Given the description of an element on the screen output the (x, y) to click on. 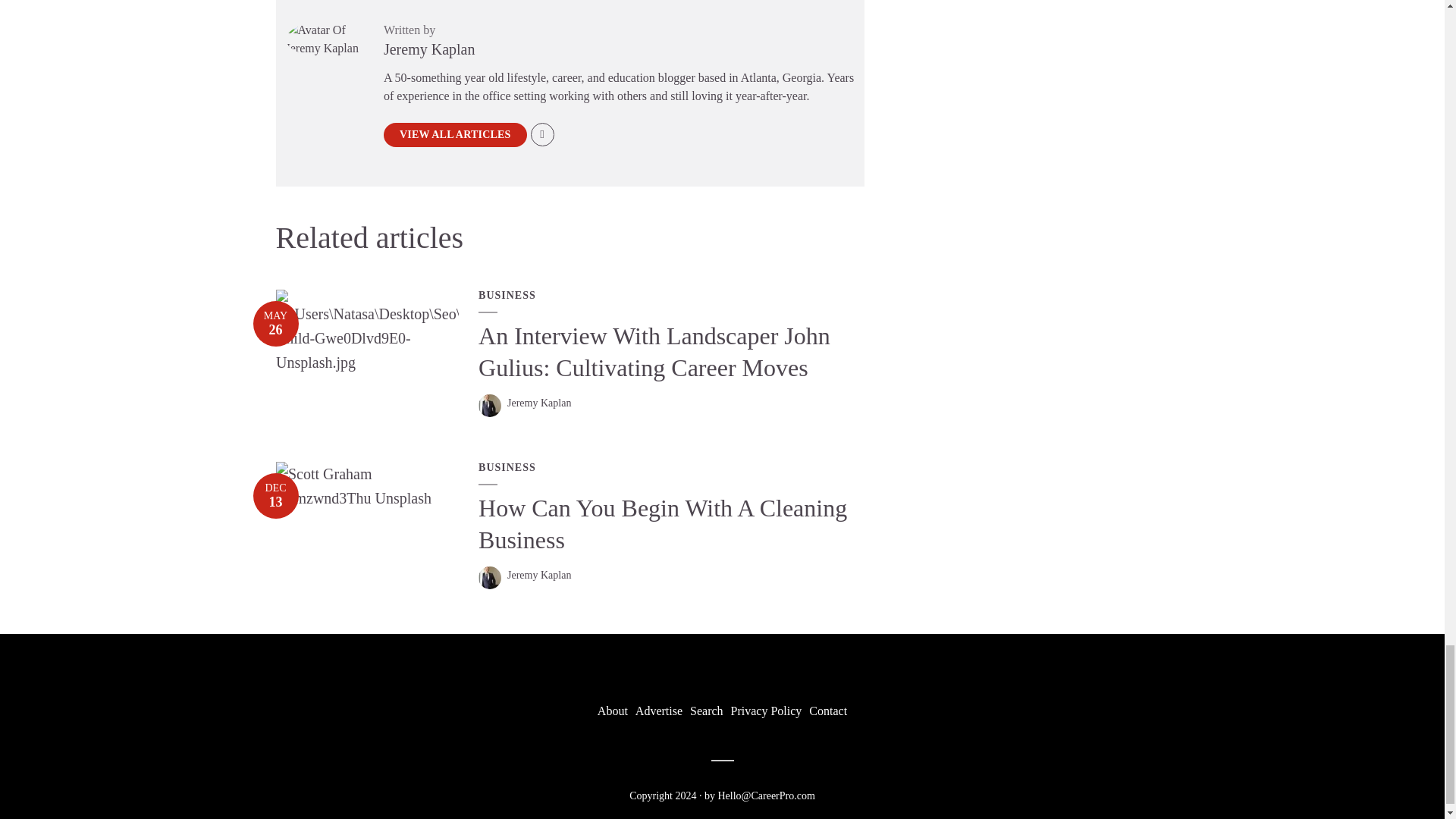
How Can You Begin With A Cleaning Business 6 (368, 485)
VIEW ALL ARTICLES (455, 134)
